Given the description of an element on the screen output the (x, y) to click on. 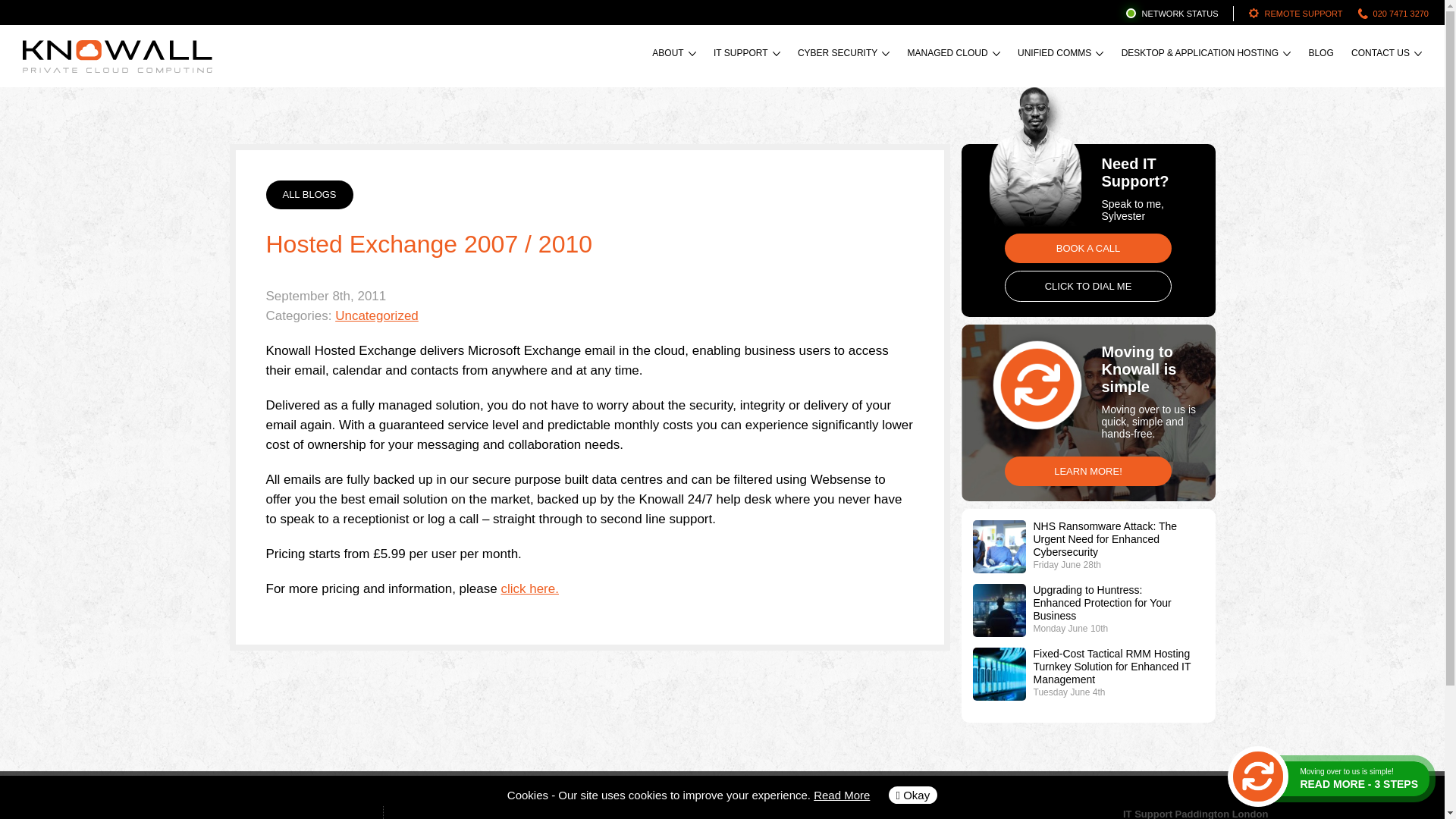
UNIFIED COMMS (1056, 54)
Read More (841, 794)
020 7471 3270 (1393, 13)
CYBER SECURITY (839, 54)
MANAGED CLOUD (949, 54)
ABOUT (670, 54)
click here. (529, 588)
IT SUPPORT (743, 54)
